Given the description of an element on the screen output the (x, y) to click on. 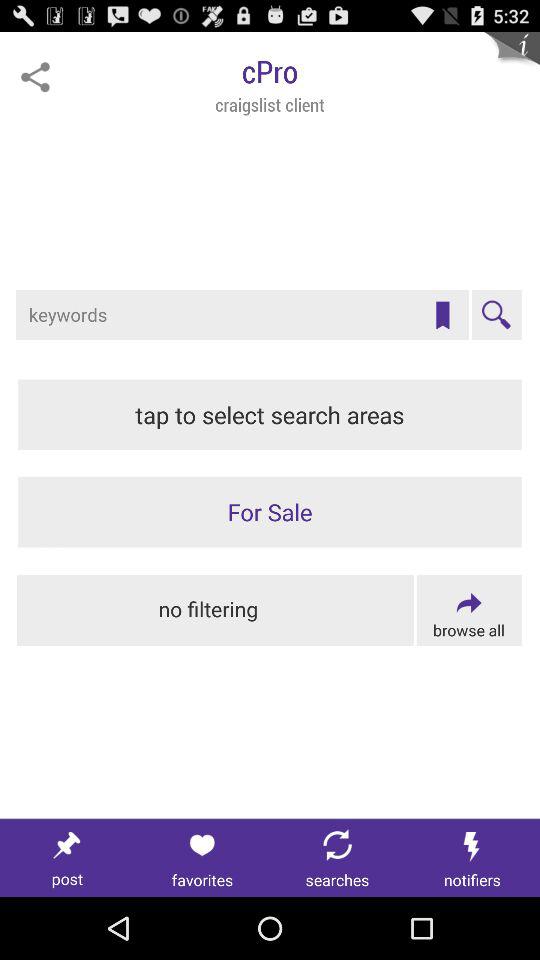
stop filtering (215, 610)
